Given the description of an element on the screen output the (x, y) to click on. 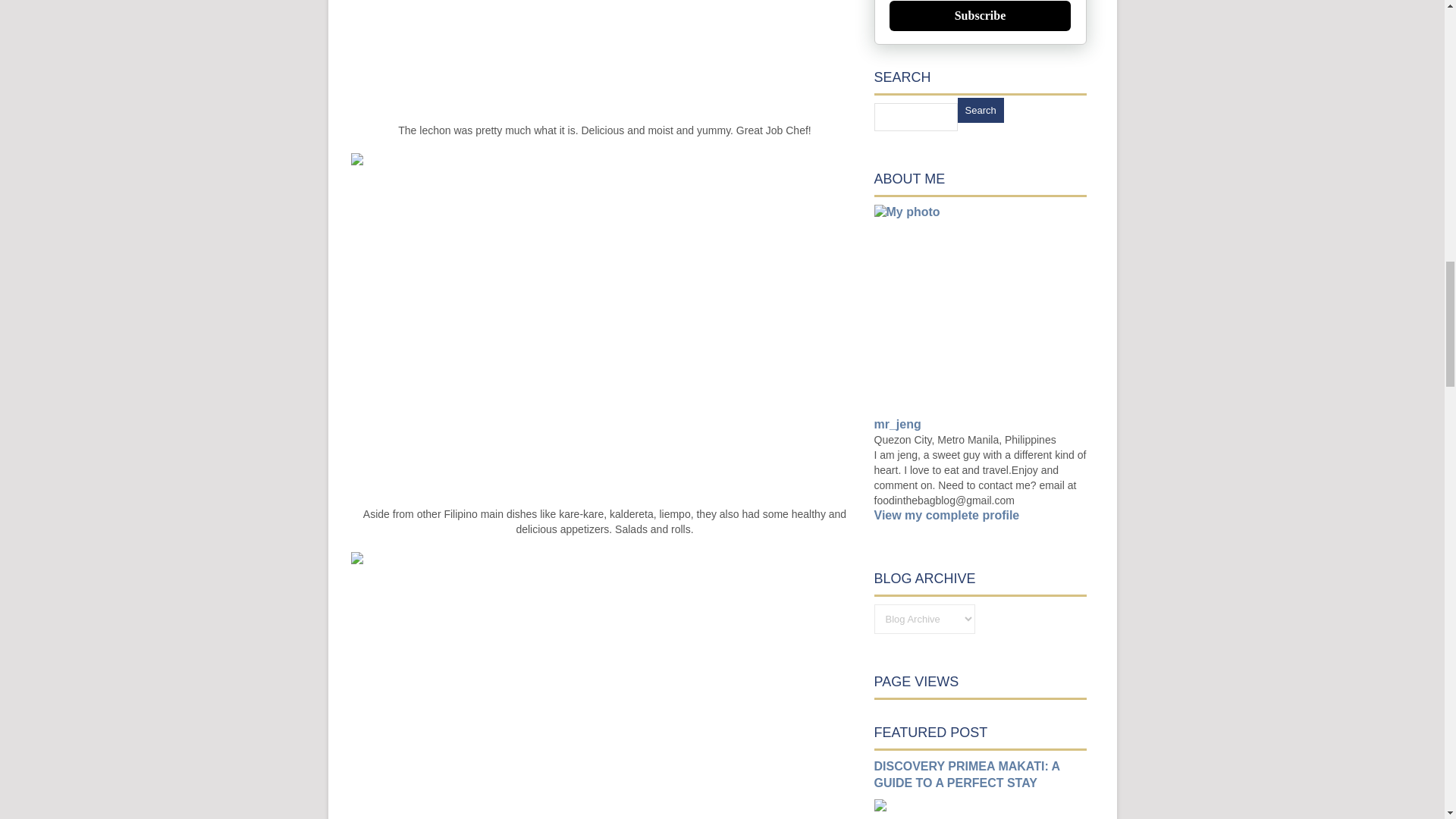
search (979, 109)
Search (979, 109)
Search (979, 109)
search (914, 117)
